Given the description of an element on the screen output the (x, y) to click on. 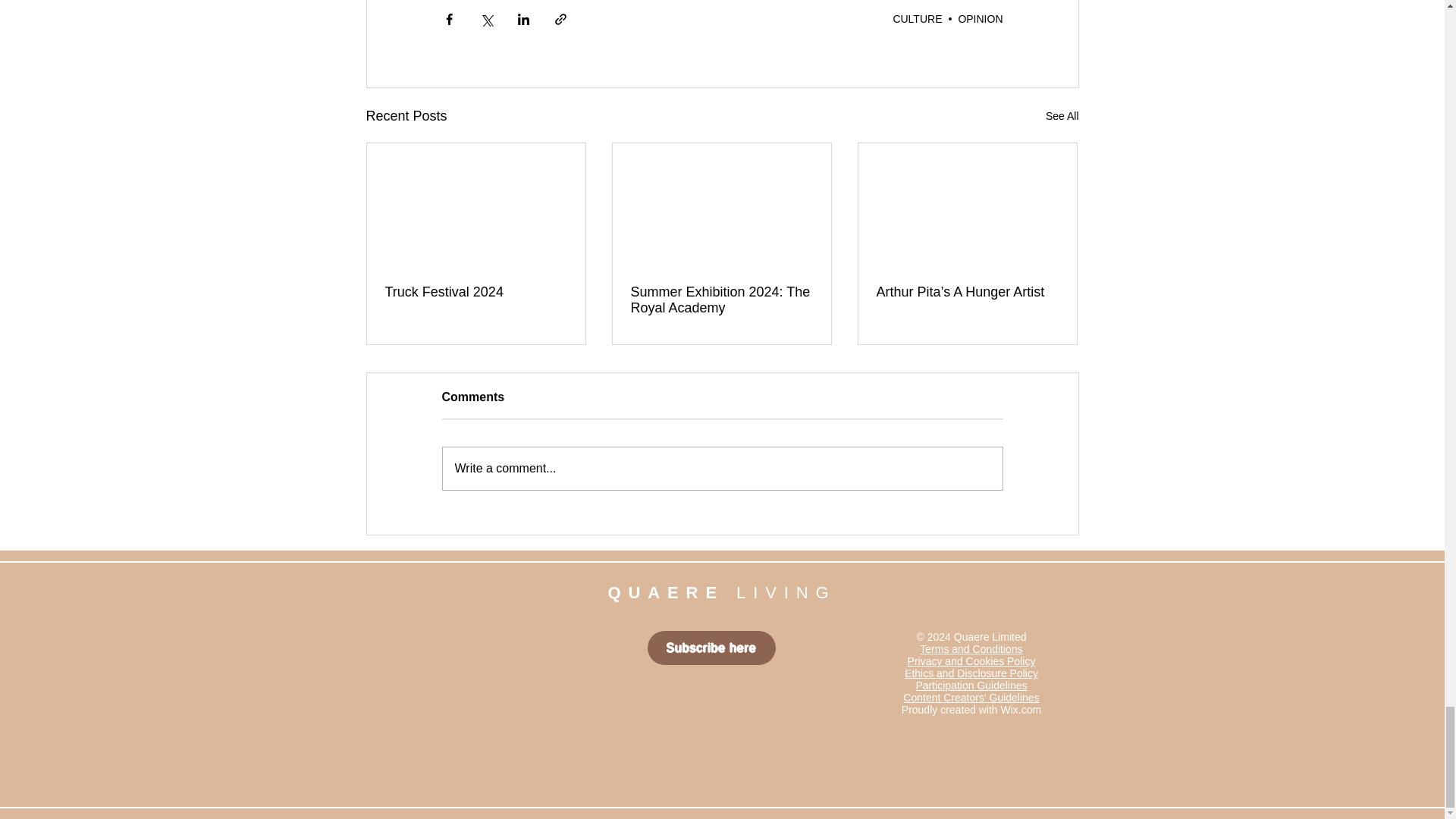
Write a comment... (722, 468)
Summer Exhibition 2024: The Royal Academy (721, 300)
CULTURE (917, 19)
Truck Festival 2024 (476, 292)
OPINION (980, 19)
See All (1061, 116)
